Given the description of an element on the screen output the (x, y) to click on. 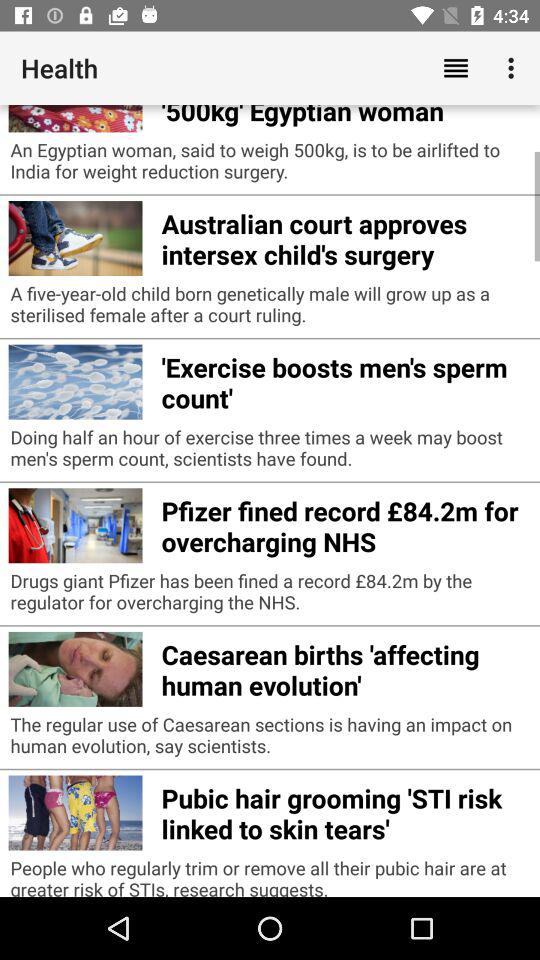
flip to australian court approves icon (345, 236)
